Given the description of an element on the screen output the (x, y) to click on. 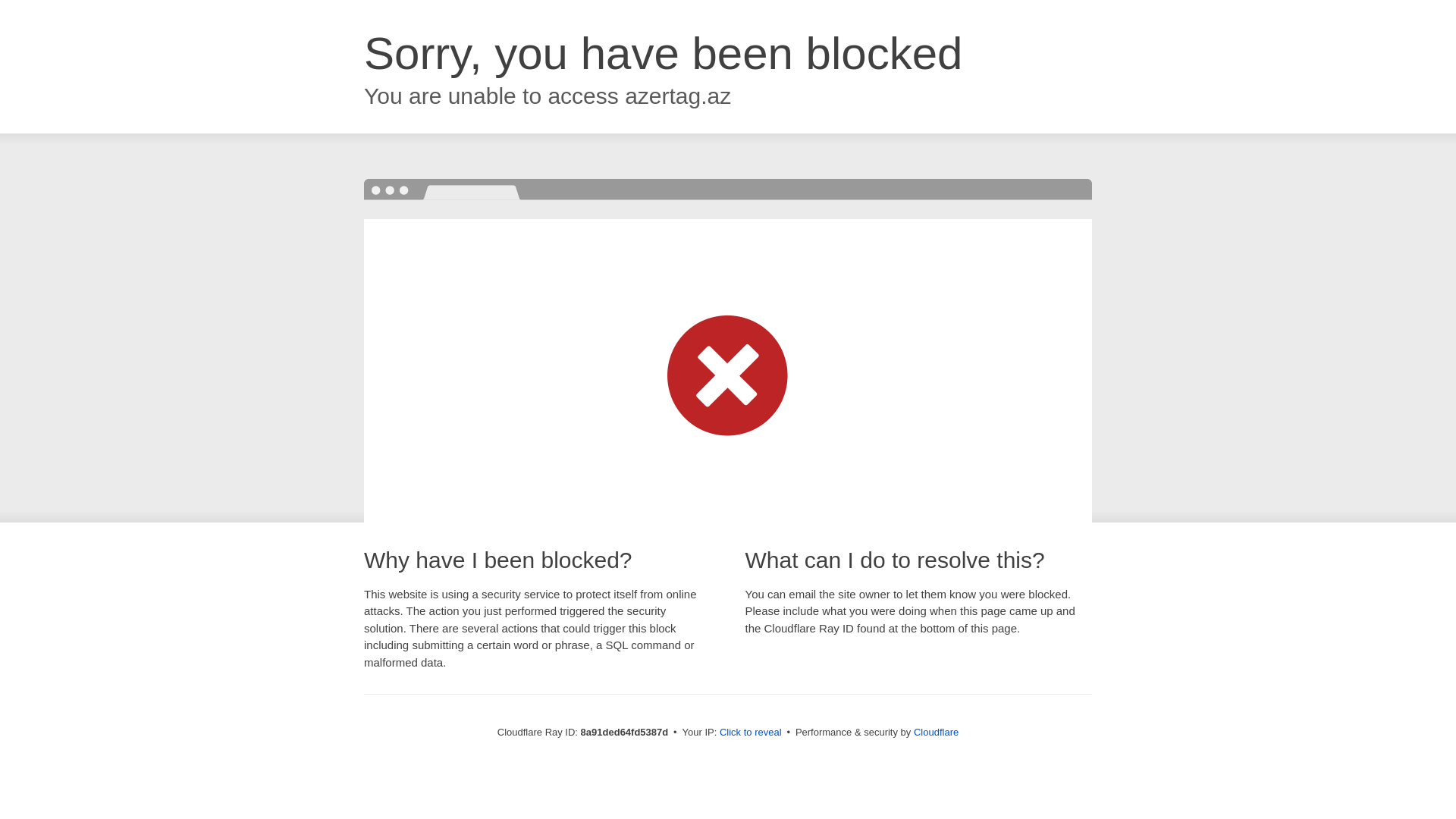
Click to reveal (750, 732)
Cloudflare (936, 731)
